Given the description of an element on the screen output the (x, y) to click on. 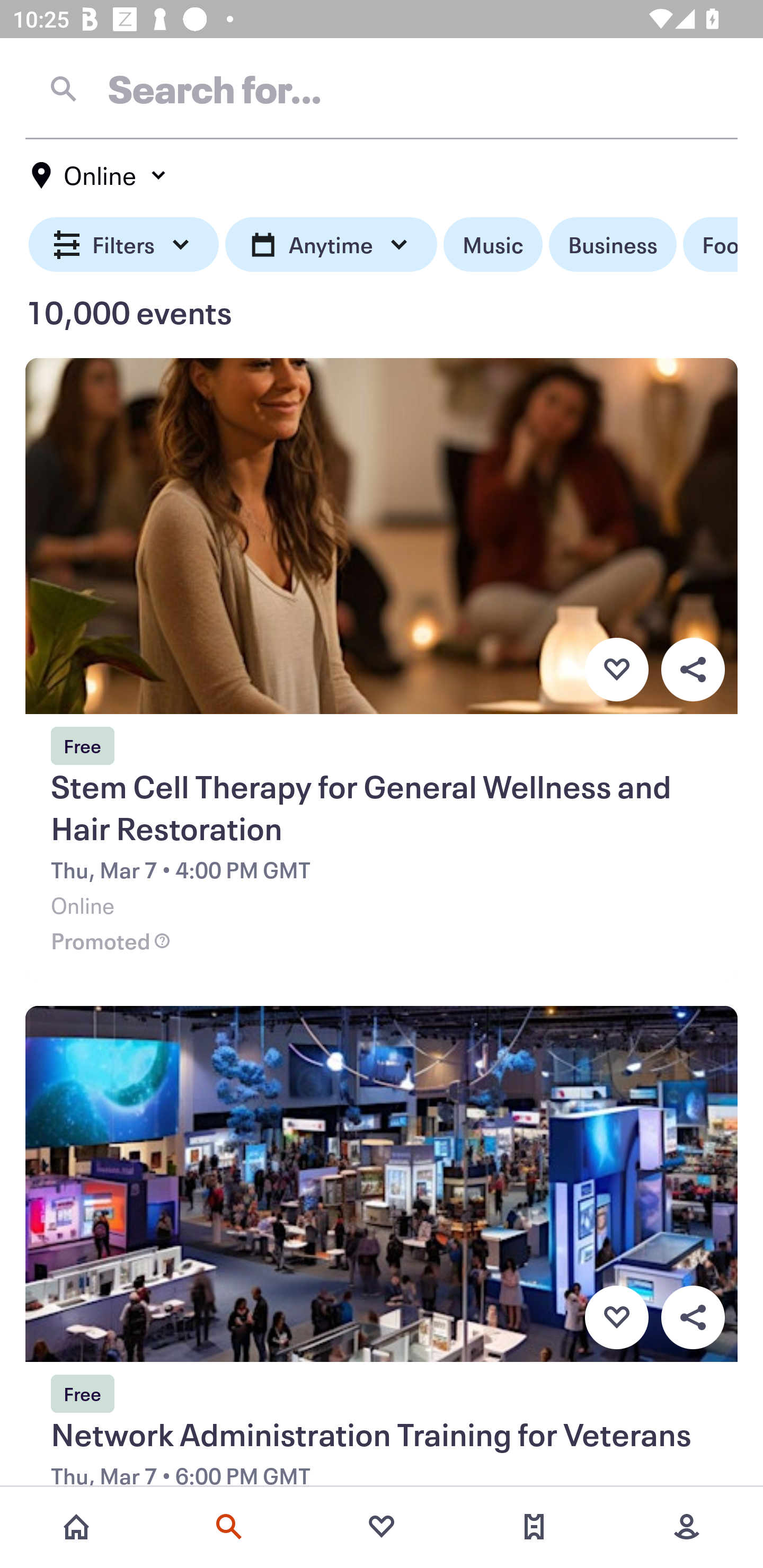
Search for… (381, 88)
Online (99, 175)
Filters (123, 244)
Anytime (331, 244)
Music (492, 244)
Business (612, 244)
Favorite button (616, 669)
Overflow menu button (692, 669)
Favorite button (616, 1317)
Overflow menu button (692, 1317)
Home (76, 1526)
Search events (228, 1526)
Favorites (381, 1526)
Tickets (533, 1526)
More (686, 1526)
